Given the description of an element on the screen output the (x, y) to click on. 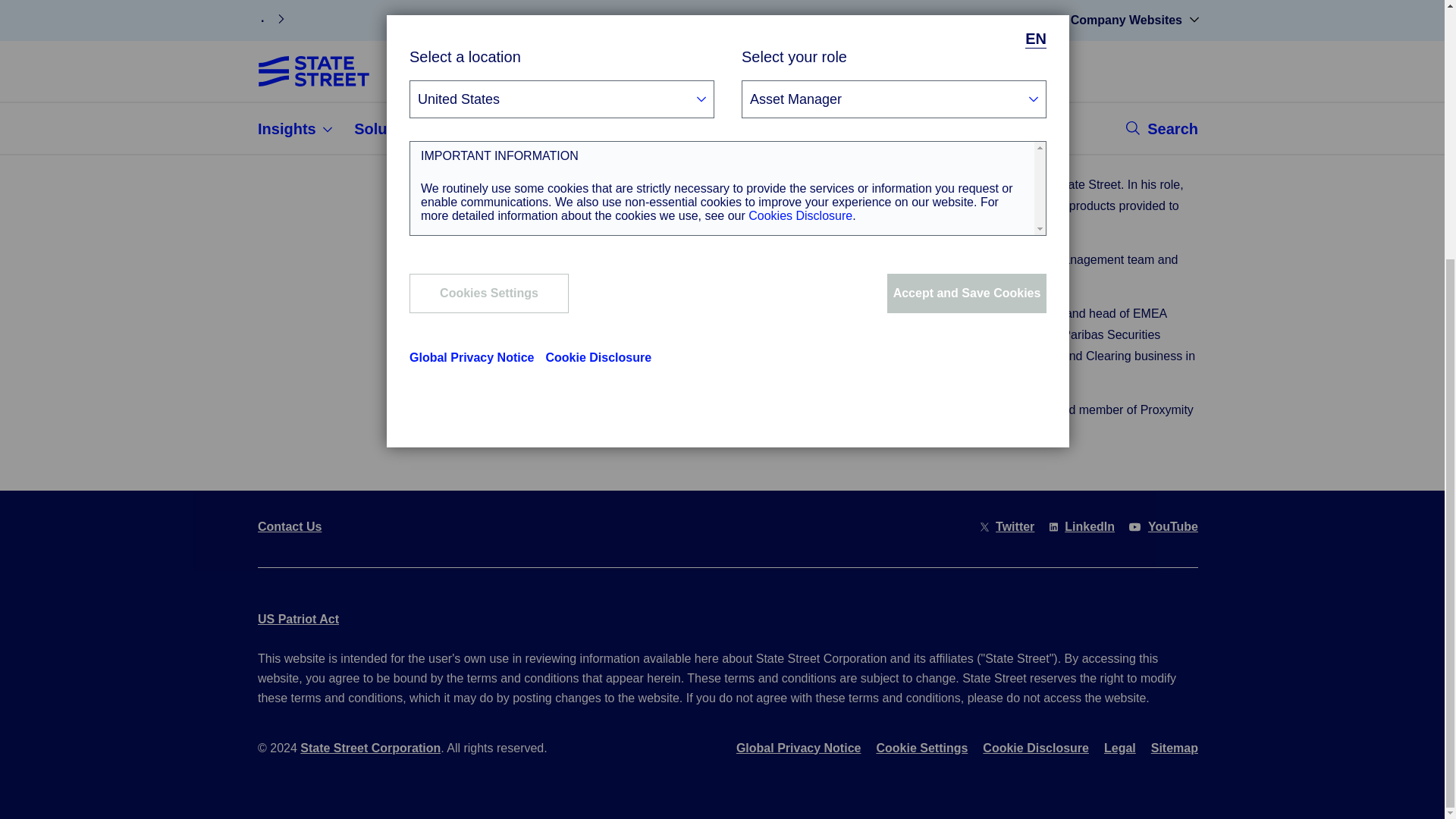
Global Privacy Notice (798, 750)
Legal (1119, 750)
Cookie Settings (922, 750)
Cookie Disclosure (1035, 750)
LinkedIn (1089, 525)
State Street Corporation (370, 747)
YouTube (1173, 525)
US Patriot Act (298, 617)
Contact Us (289, 529)
Sitemap (1174, 750)
Twitter (1014, 525)
